Given the description of an element on the screen output the (x, y) to click on. 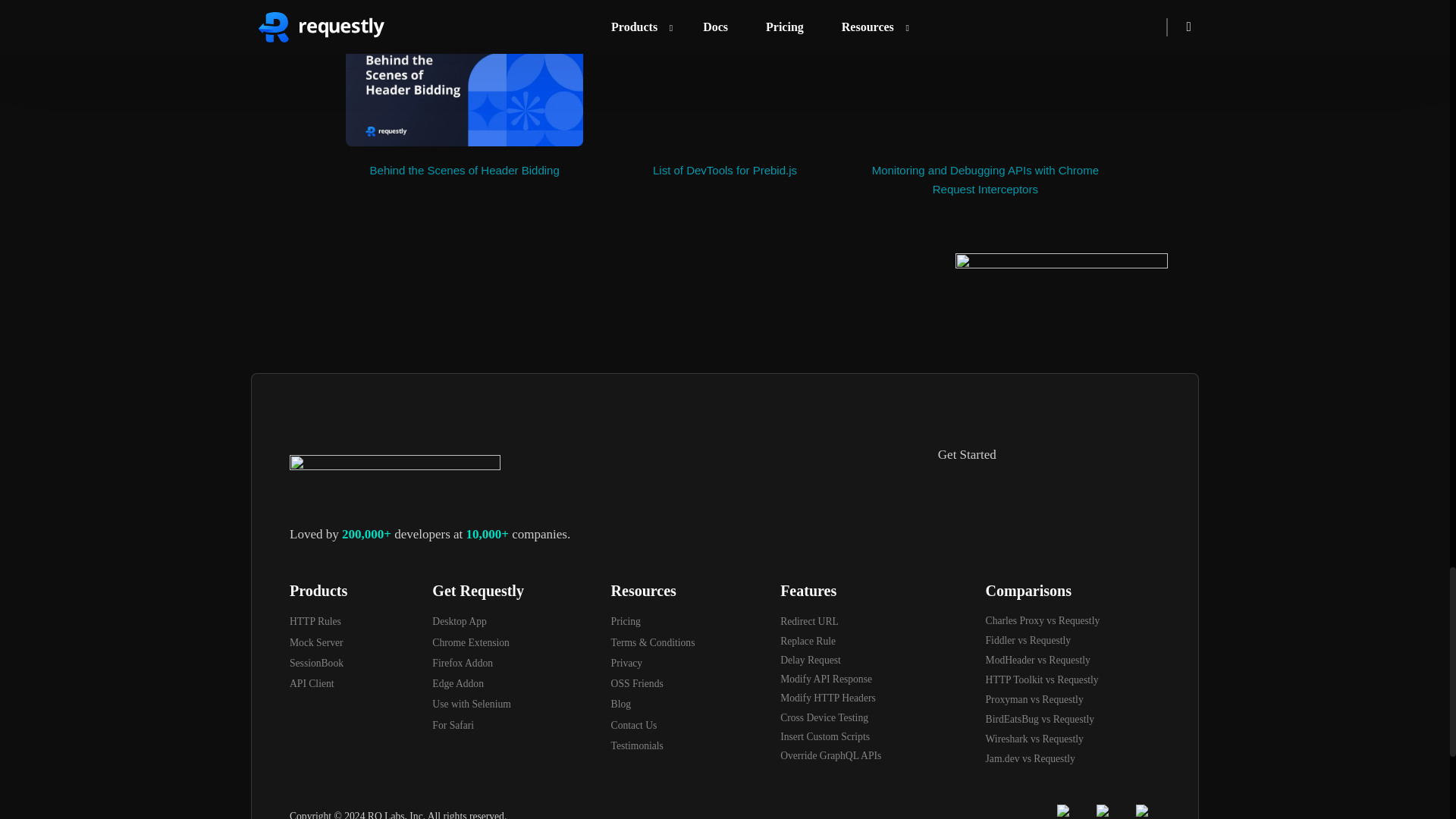
chrome interceptor - Requestly (984, 79)
requestly-mascot - Requestly (1061, 329)
Behind the scenes of header bidding - Requestly (464, 79)
Requestly-Logo-Dark - Requestly (394, 480)
prebidjs - Requestly (724, 79)
